Given the description of an element on the screen output the (x, y) to click on. 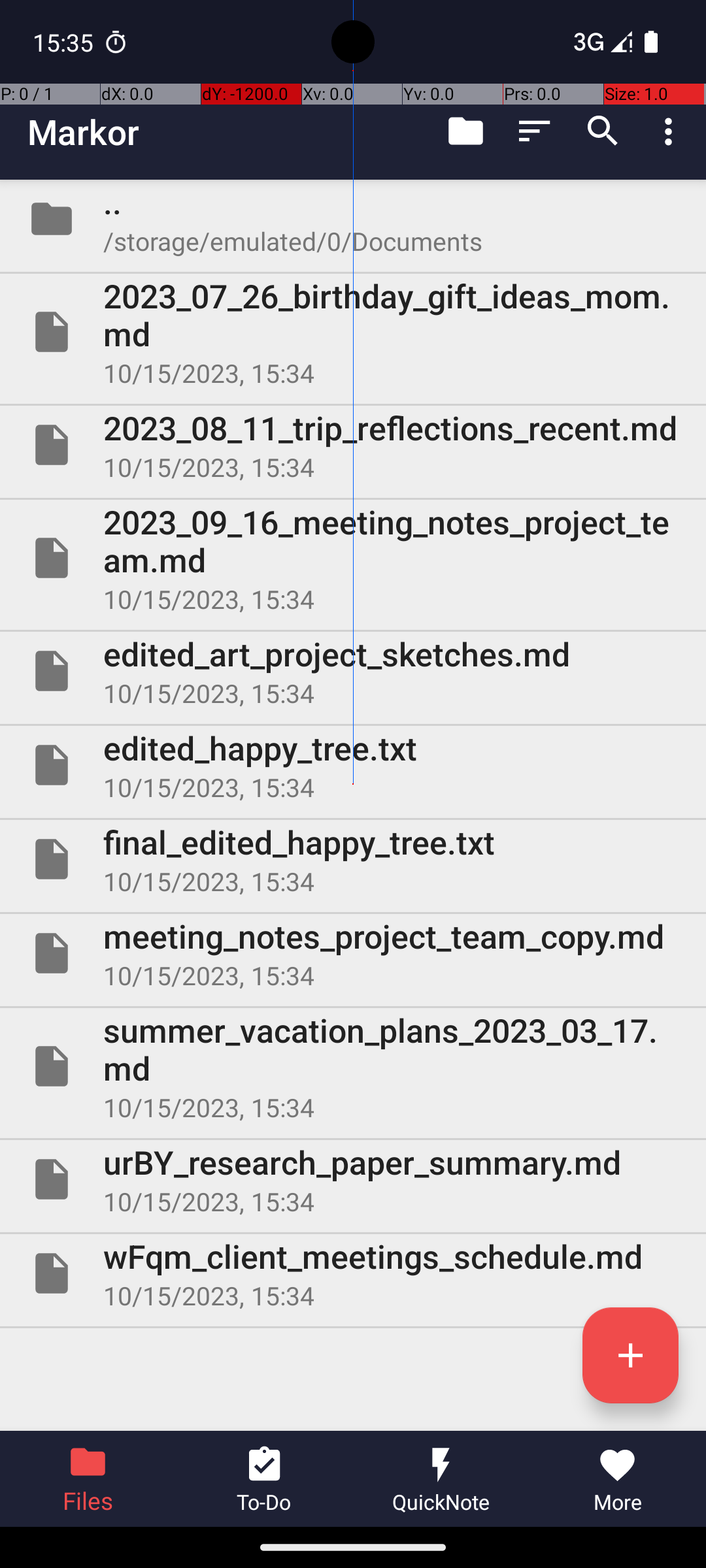
Press 'Back' again to exit Element type: android.widget.TextView (307, 1485)
EXIT Element type: android.widget.Button (639, 1485)
File 2023_07_26_birthday_gift_ideas_mom.md  Element type: android.widget.LinearLayout (353, 331)
File 2023_08_11_trip_reflections_recent.md  Element type: android.widget.LinearLayout (353, 444)
File 2023_09_16_meeting_notes_project_team.md  Element type: android.widget.LinearLayout (353, 557)
File edited_art_project_sketches.md  Element type: android.widget.LinearLayout (353, 670)
File edited_happy_tree.txt  Element type: android.widget.LinearLayout (353, 764)
File final_edited_happy_tree.txt  Element type: android.widget.LinearLayout (353, 858)
File meeting_notes_project_team_copy.md  Element type: android.widget.LinearLayout (353, 953)
File summer_vacation_plans_2023_03_17.md  Element type: android.widget.LinearLayout (353, 1066)
File urBY_research_paper_summary.md  Element type: android.widget.LinearLayout (353, 1179)
File wFqm_client_meetings_schedule.md  Element type: android.widget.LinearLayout (353, 1273)
